Given the description of an element on the screen output the (x, y) to click on. 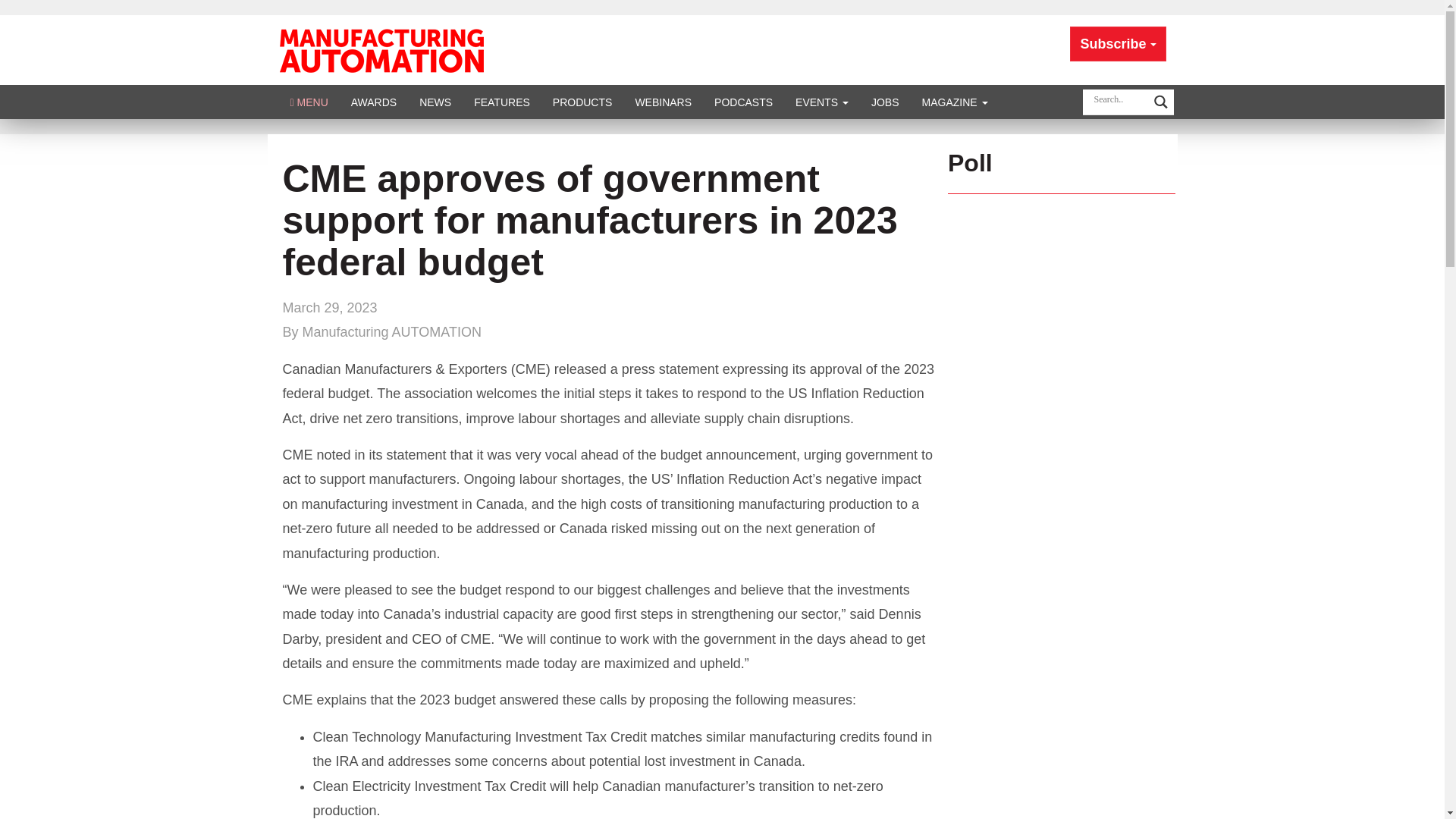
JOBS (885, 101)
MAGAZINE (954, 101)
FEATURES (502, 101)
MENU (309, 101)
Click to show site navigation (309, 101)
WEBINARS (663, 101)
PRODUCTS (582, 101)
NEWS (435, 101)
Manufacturing AUTOMATION (381, 48)
Subscribe (1118, 43)
EVENTS (822, 101)
PODCASTS (743, 101)
AWARDS (373, 101)
